Given the description of an element on the screen output the (x, y) to click on. 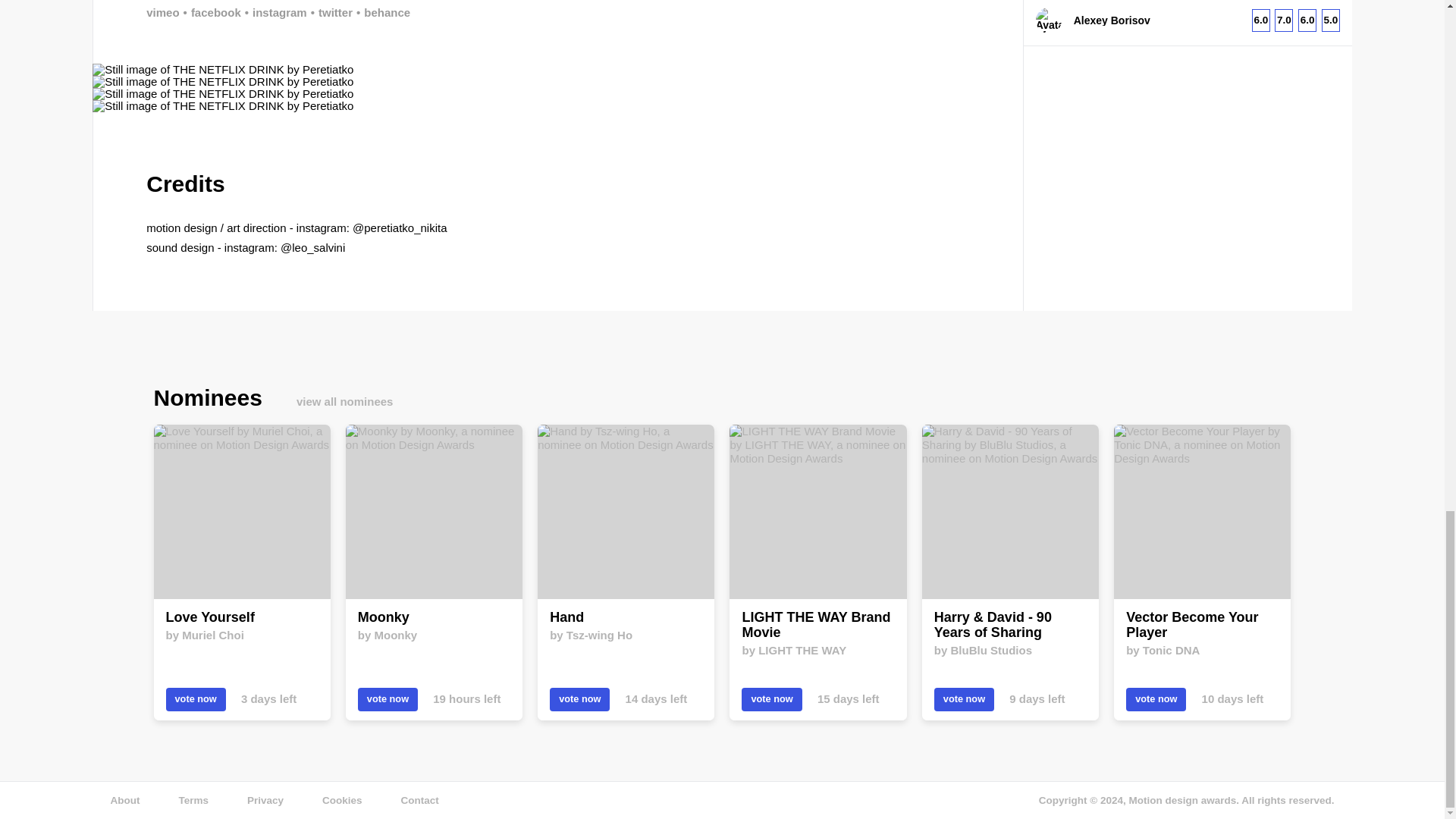
vote now (387, 699)
twitter of Peretiatko (329, 12)
instagram (274, 12)
view all nominees (345, 401)
instagram of Peretiatko (274, 12)
facebook (210, 12)
vimeo of Peretiatko (163, 12)
vote now (580, 699)
vimeo (163, 12)
behance of Peretiatko (381, 12)
facebook of Peretiatko (210, 12)
twitter (329, 12)
vote now (195, 699)
behance (381, 12)
